Given the description of an element on the screen output the (x, y) to click on. 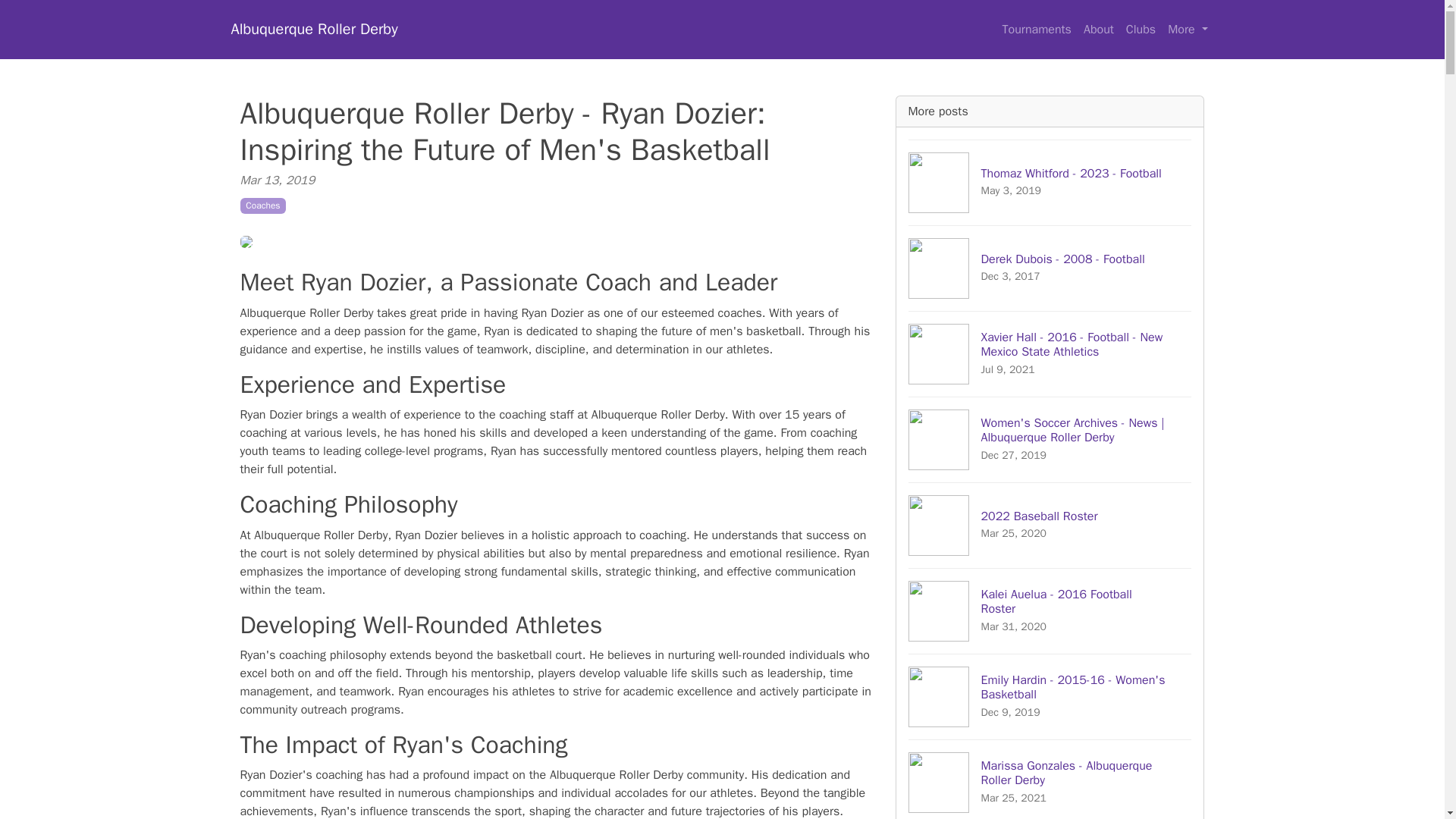
About (1098, 29)
Tournaments (1050, 610)
More (1036, 29)
Albuquerque Roller Derby (1186, 29)
Clubs (1050, 779)
Coaches (1050, 696)
